Given the description of an element on the screen output the (x, y) to click on. 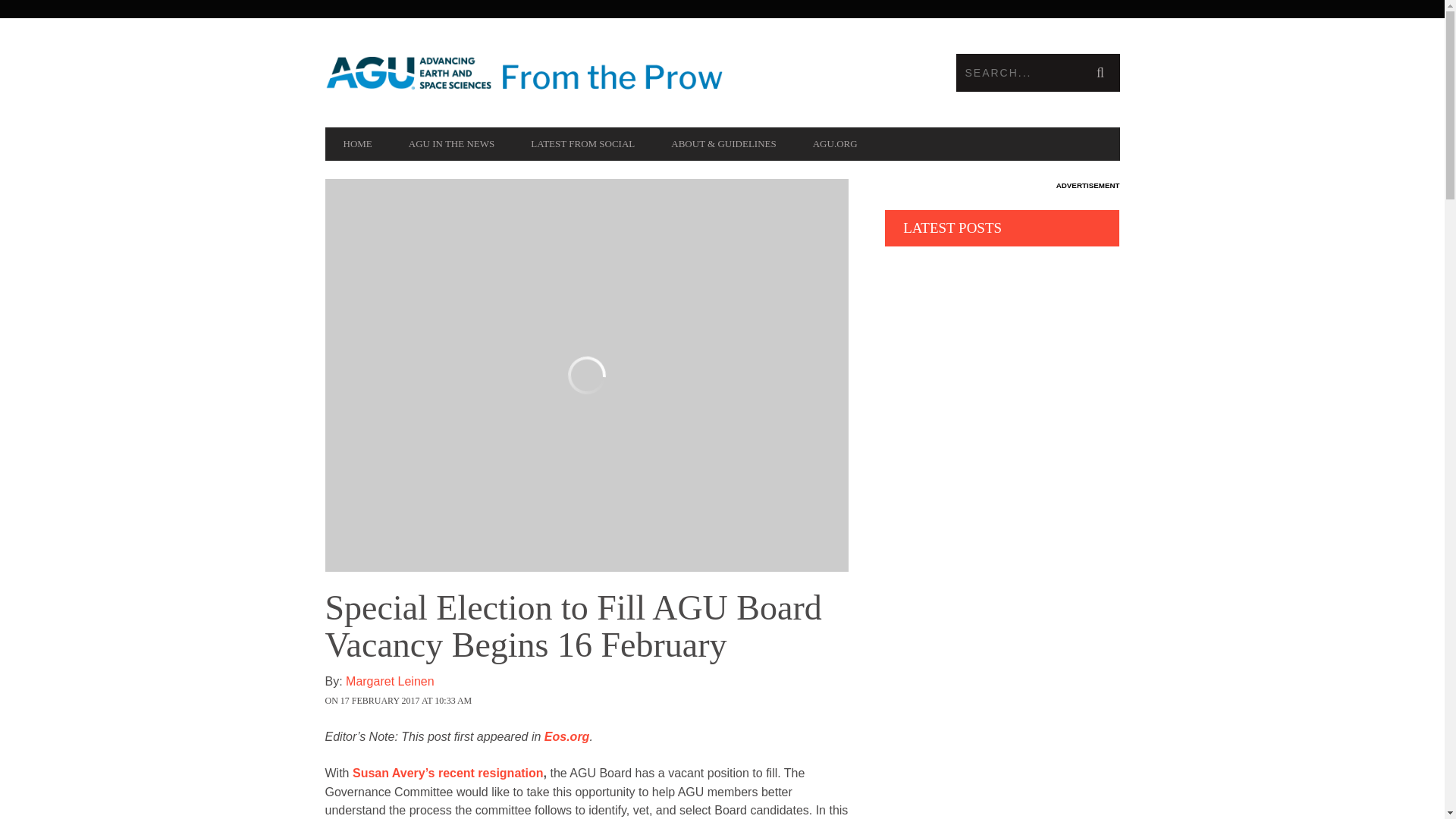
Margaret Leinen (607, 689)
AGU IN THE NEWS (451, 144)
LATEST FROM SOCIAL (582, 144)
AGU.ORG (835, 144)
Posts by Margaret Leinen (607, 689)
HOME (357, 144)
From The Prow (523, 72)
Eos.org (566, 736)
